Given the description of an element on the screen output the (x, y) to click on. 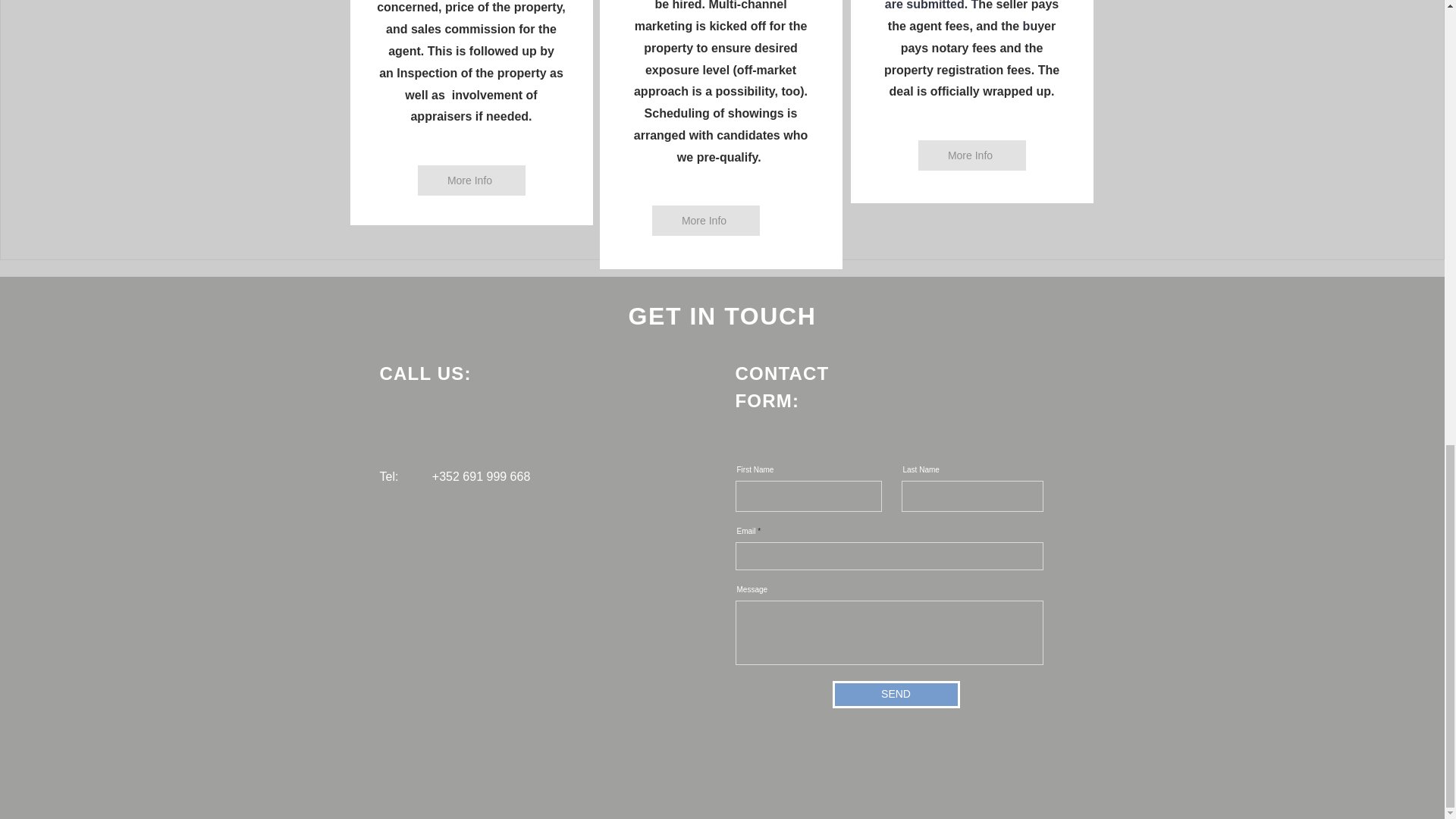
More Info (470, 180)
More Info (706, 220)
More Info (971, 155)
SEND (895, 694)
